Given the description of an element on the screen output the (x, y) to click on. 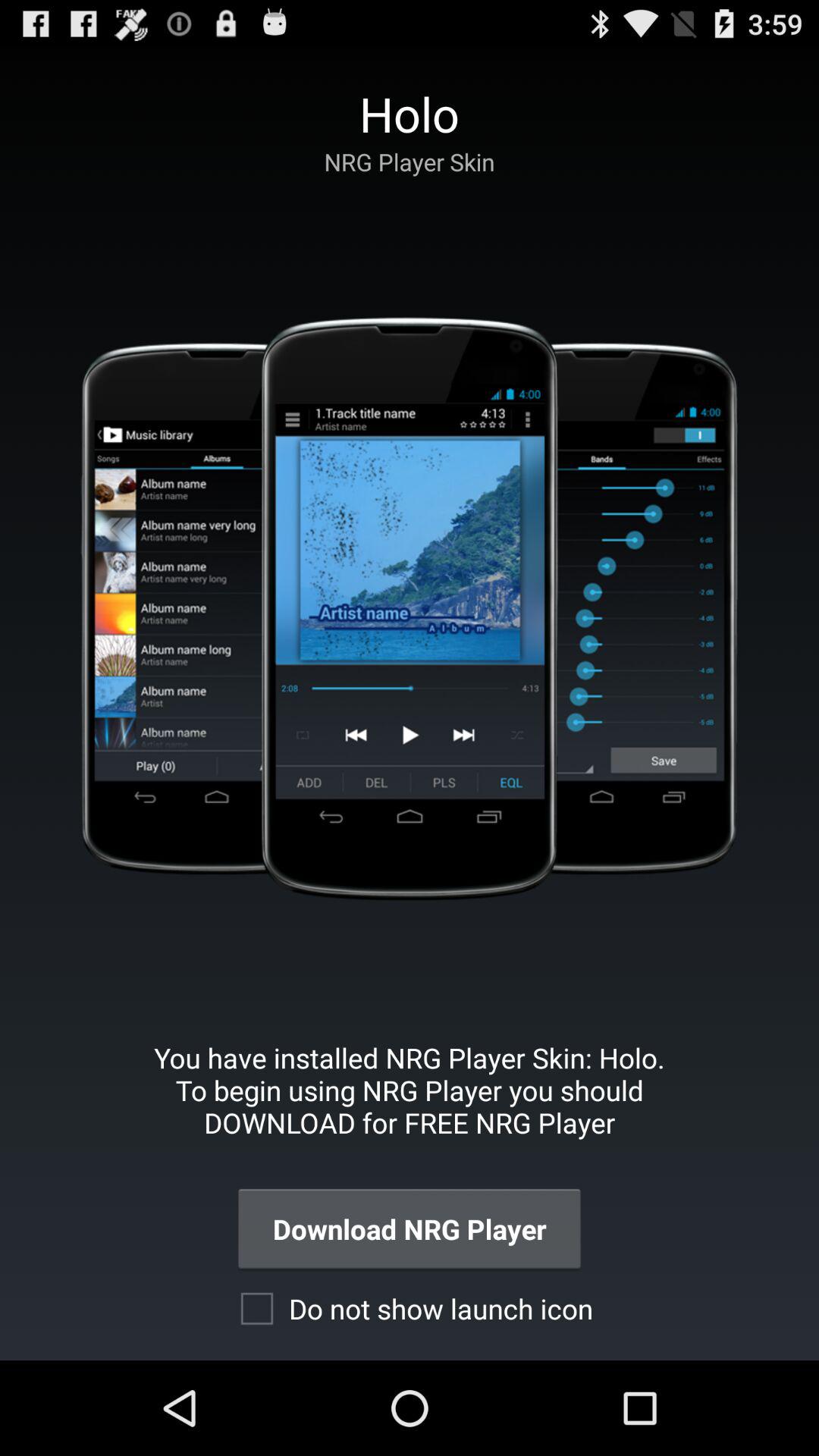
click do not show item (409, 1308)
